Given the description of an element on the screen output the (x, y) to click on. 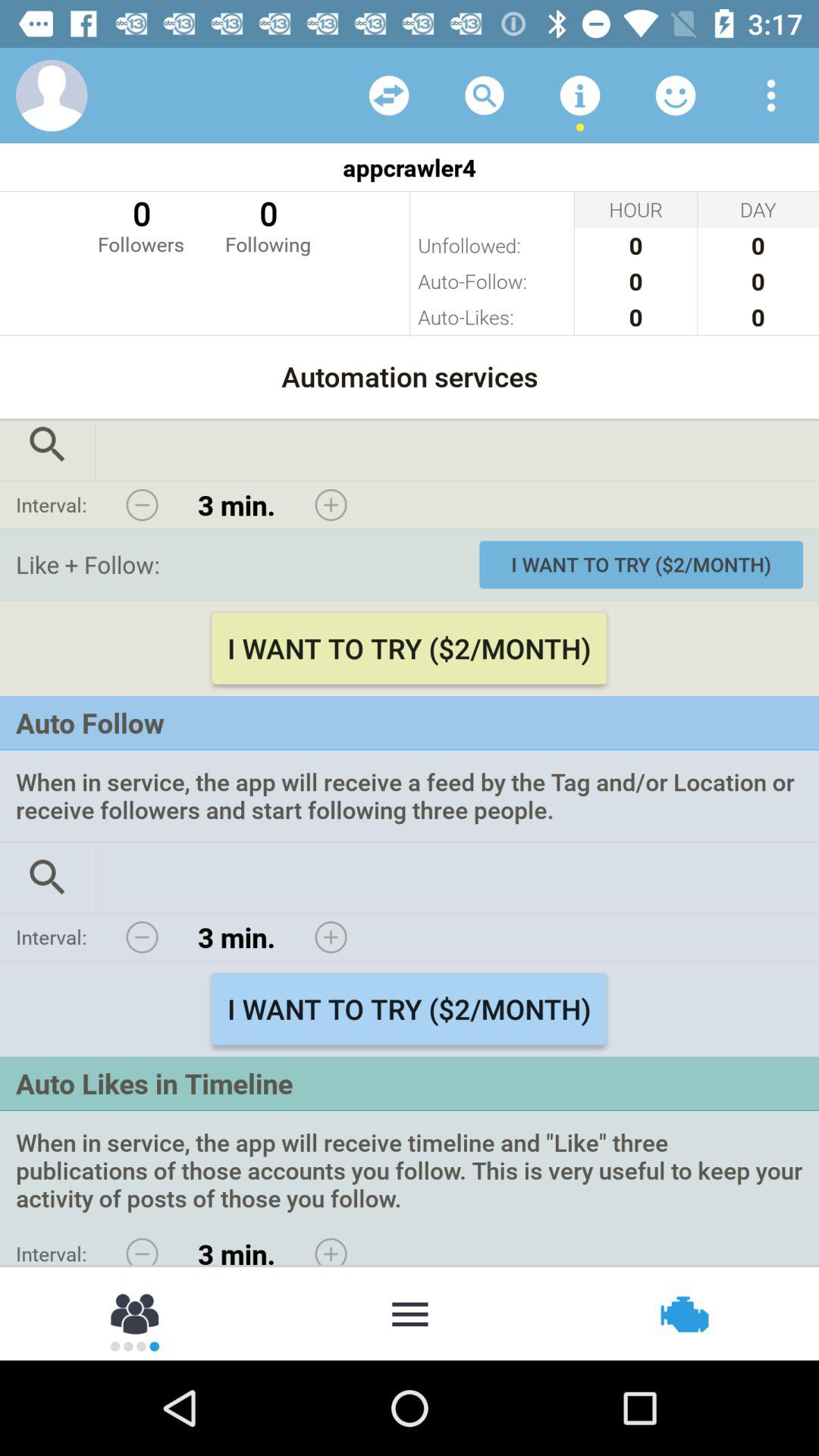
choose random (388, 95)
